Given the description of an element on the screen output the (x, y) to click on. 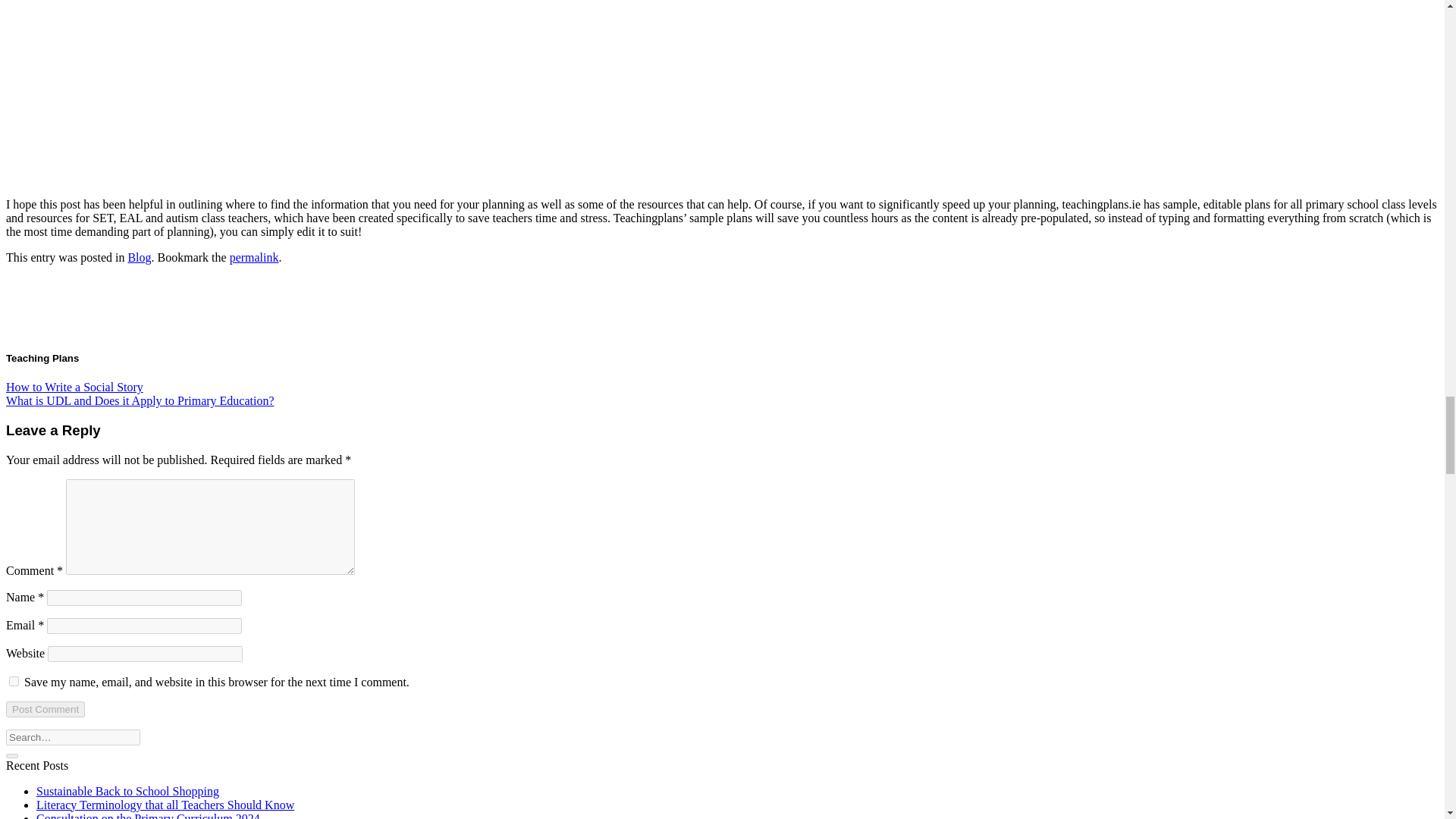
yes (13, 681)
Post Comment (44, 709)
